Given the description of an element on the screen output the (x, y) to click on. 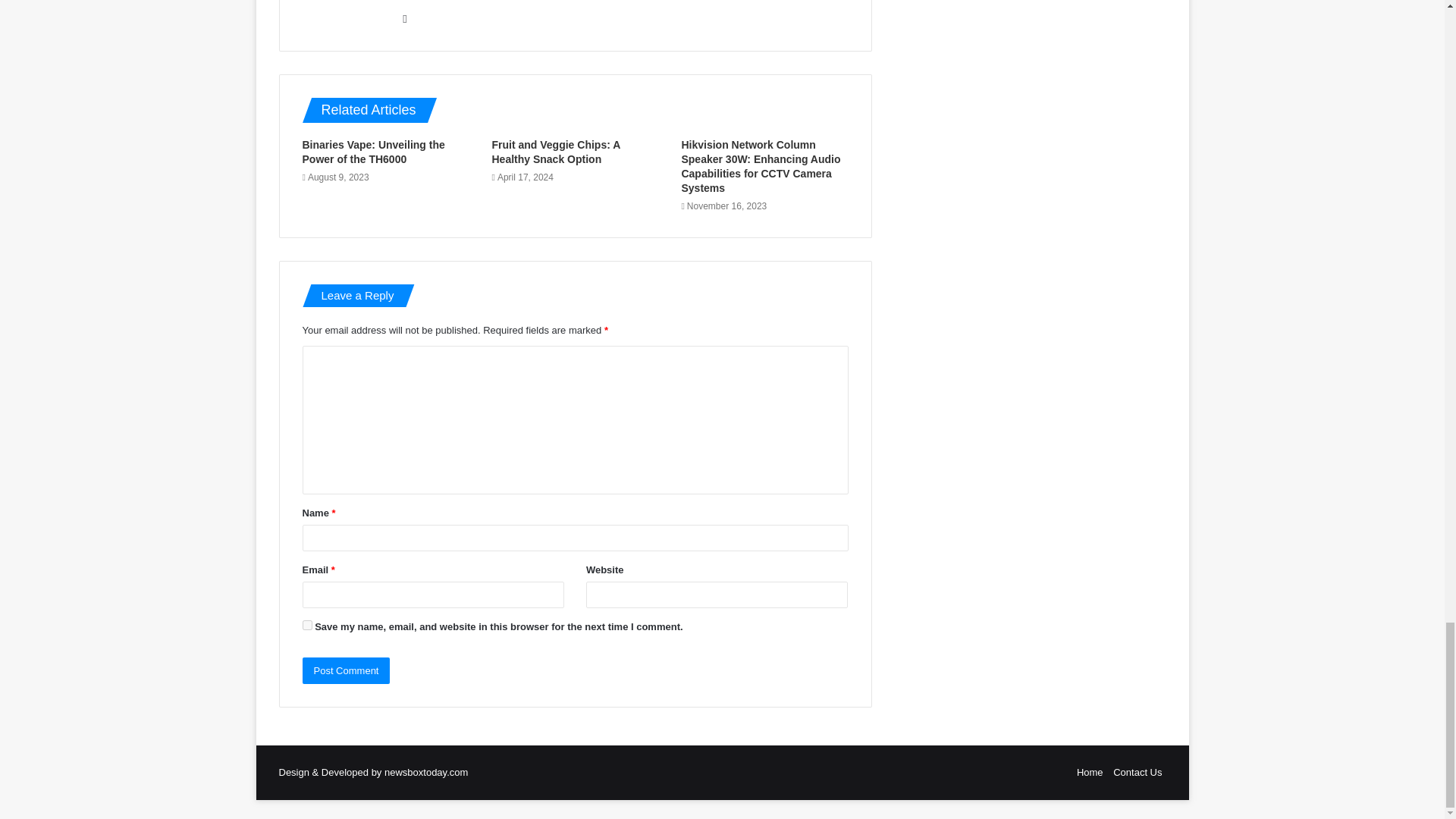
Post Comment (345, 670)
Fruit and Veggie Chips: A Healthy Snack Option (556, 151)
yes (306, 624)
Binaries Vape: Unveiling the Power of the TH6000 (372, 151)
Website (404, 18)
